Given the description of an element on the screen output the (x, y) to click on. 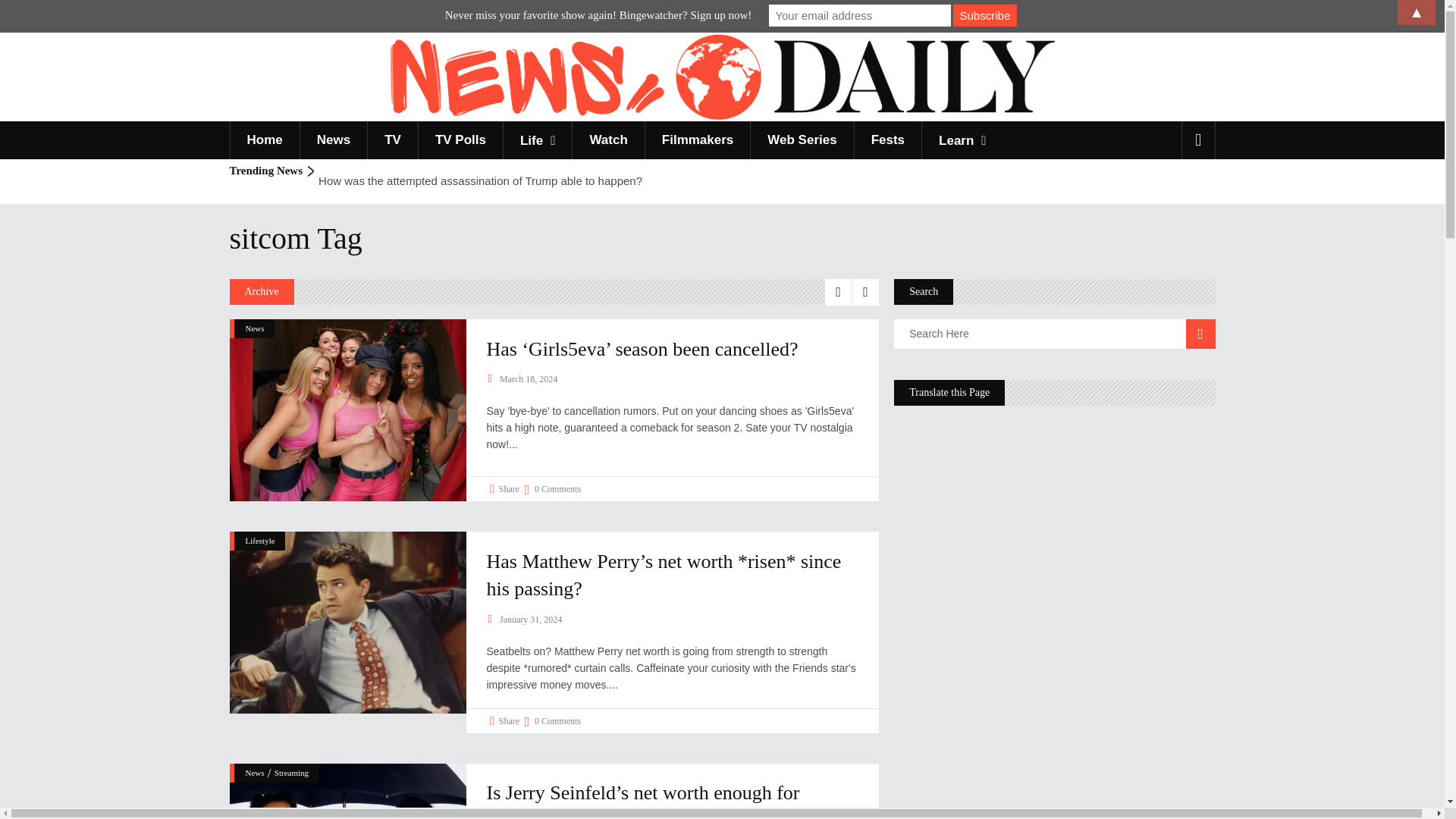
Filmmakers (698, 139)
Watch (607, 139)
Learn (962, 139)
Subscribe (984, 15)
Fests (887, 139)
Web Series (801, 139)
Life (537, 139)
TV (391, 139)
Home (263, 139)
TV Polls (459, 139)
News (332, 139)
